Given the description of an element on the screen output the (x, y) to click on. 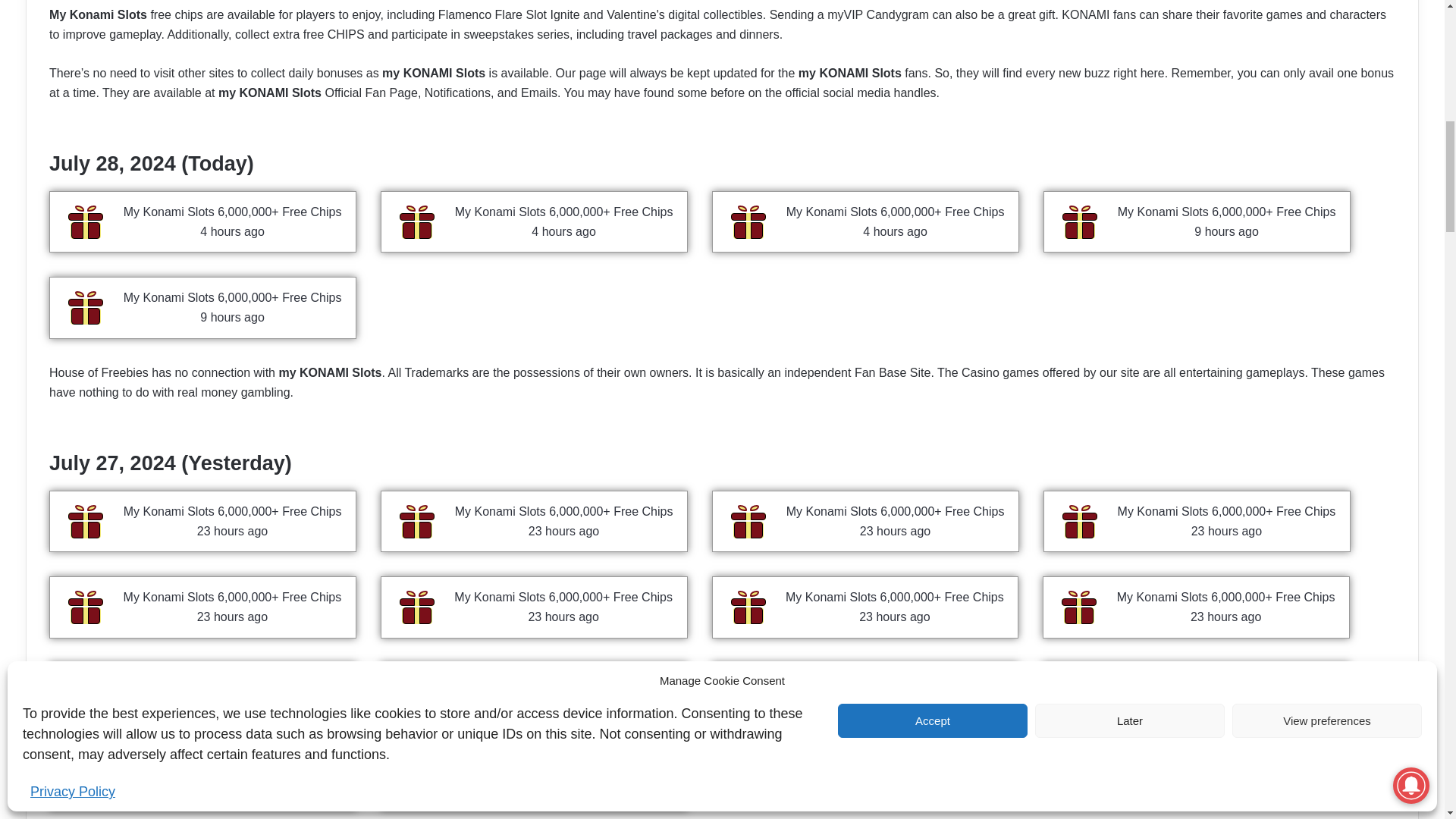
4 hours ago (895, 231)
4 hours ago (232, 231)
4 hours ago (563, 231)
9 hours ago (232, 317)
9 hours ago (1226, 231)
